Given the description of an element on the screen output the (x, y) to click on. 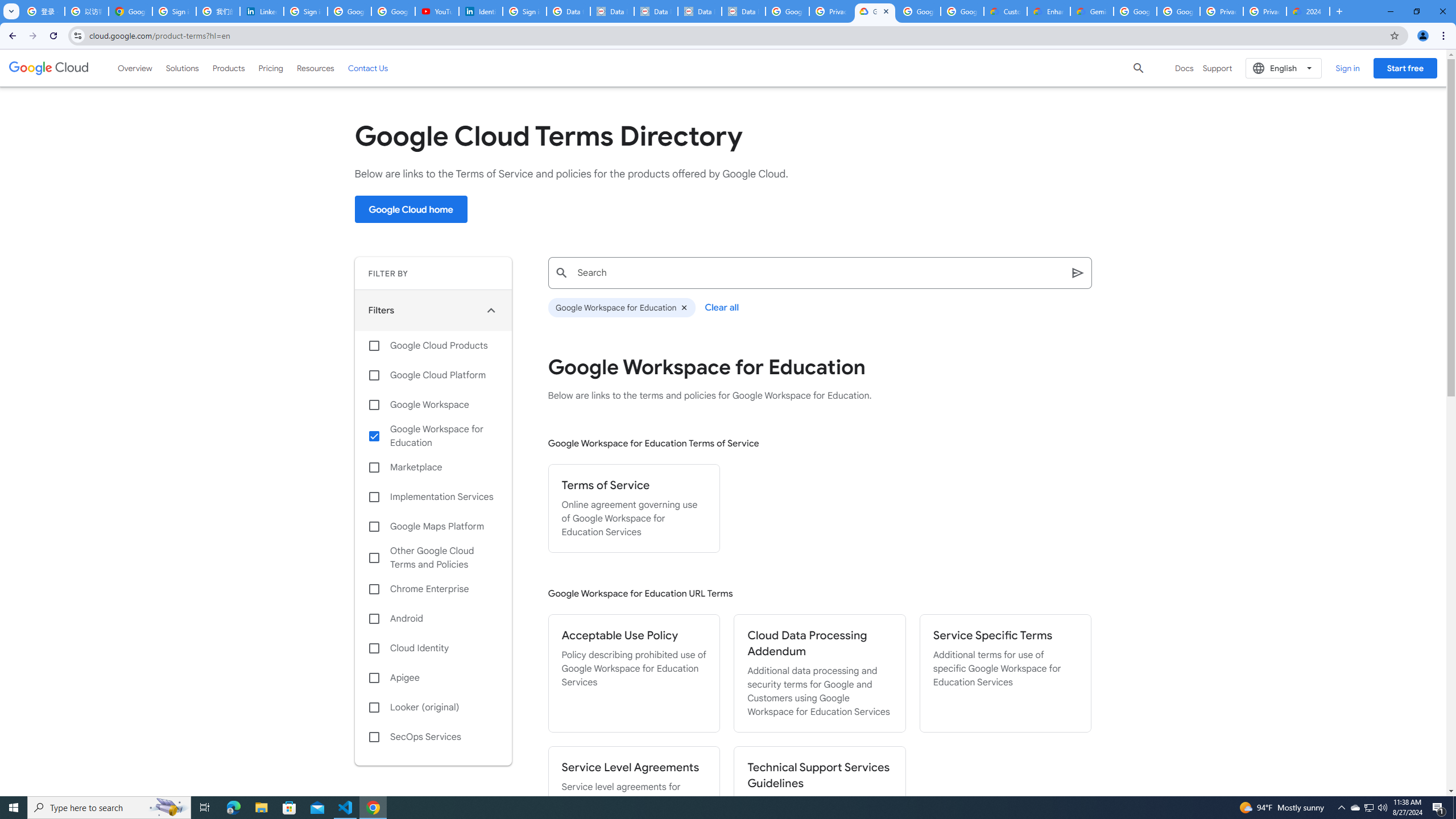
Filters keyboard_arrow_up (432, 309)
Data Privacy Framework (743, 11)
Google Cloud home (410, 208)
Google Cloud Terms Directory | Google Cloud (874, 11)
Google Workspace for Education (621, 307)
Enhanced Support | Google Cloud (1048, 11)
Contact Us (368, 67)
Google Cloud Platform (1178, 11)
